Given the description of an element on the screen output the (x, y) to click on. 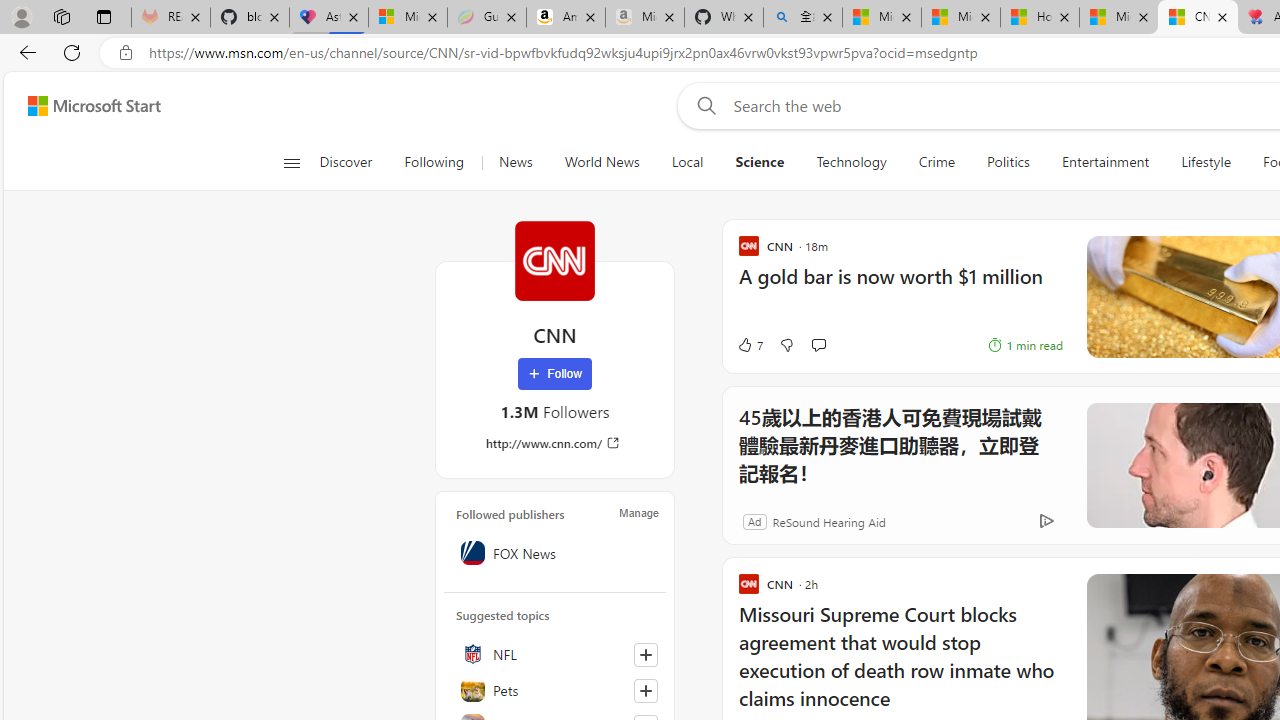
Manage (639, 512)
Follow this topic (645, 690)
Follow (554, 373)
